Given the description of an element on the screen output the (x, y) to click on. 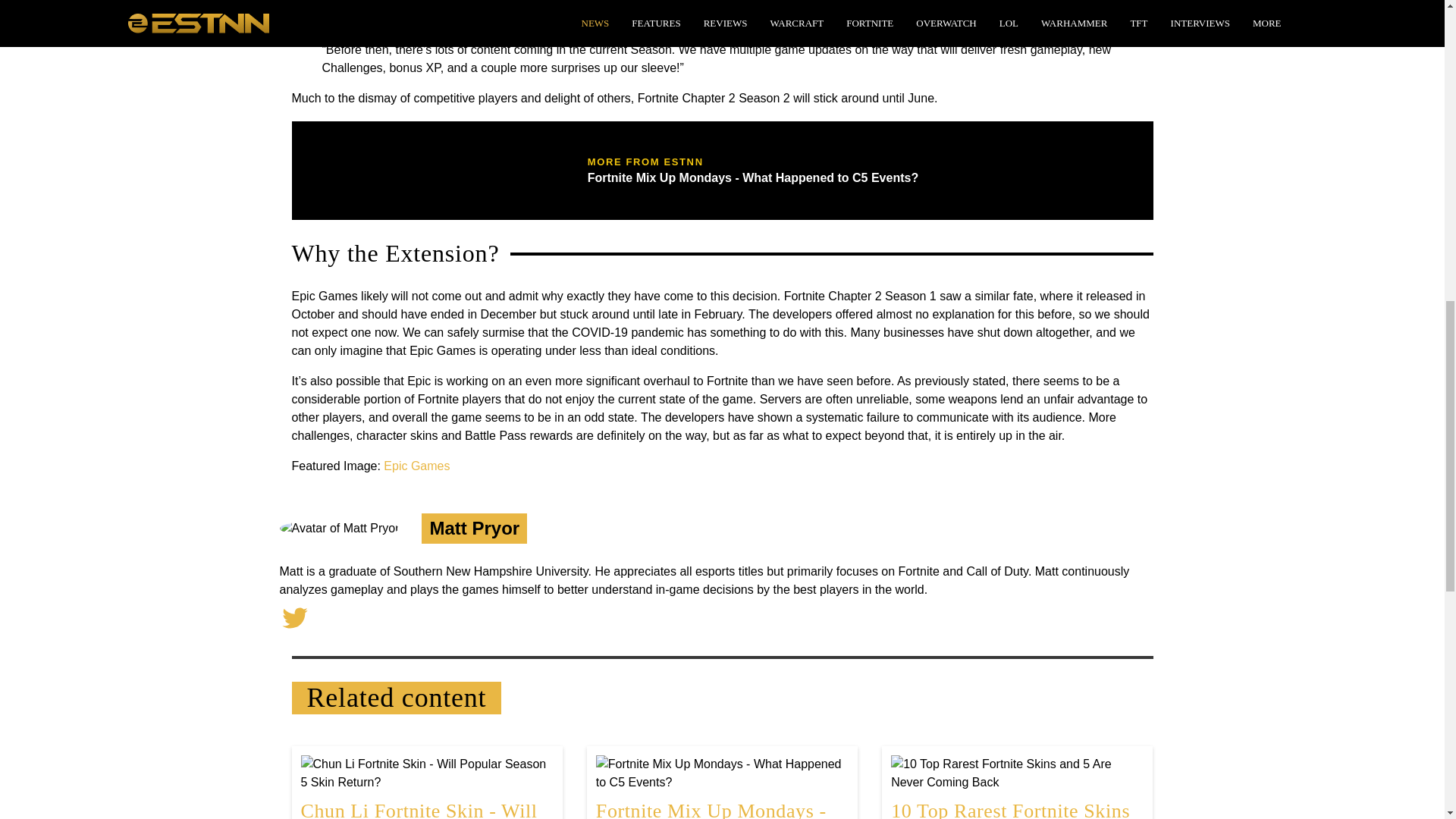
Fortnite Mix Up Mondays - What Happened to C5 Events? (721, 787)
twitter Matt Pryor (293, 616)
Matt Pryor (474, 527)
Chun Li Fortnite Skin - Will Popular Season 5 Skin Return? (426, 787)
10 Top Rarest Fortnite Skins and 5 Are Never Coming Back (1016, 787)
Epic Games (416, 465)
